Given the description of an element on the screen output the (x, y) to click on. 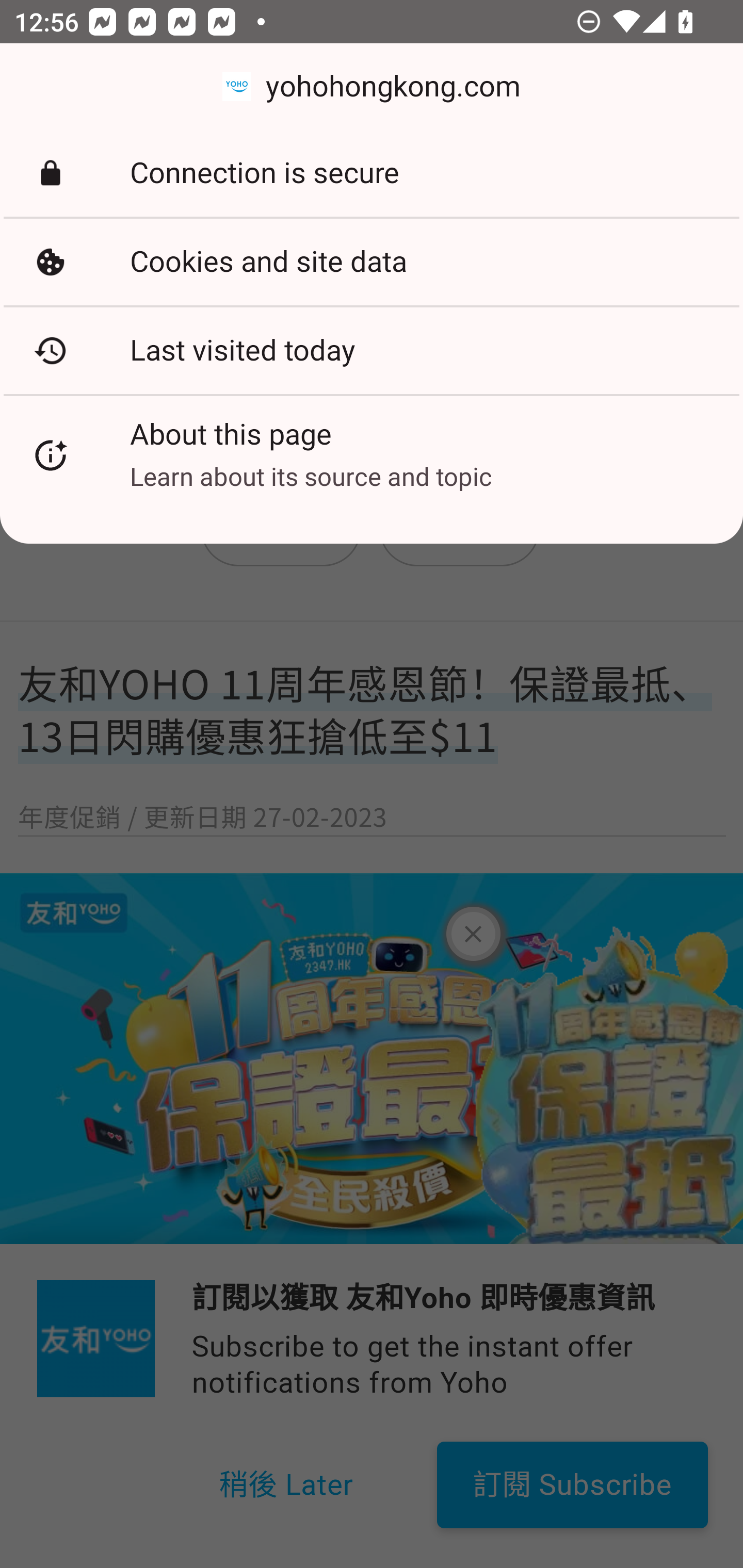
yohohongkong.com (371, 86)
Connection is secure (371, 173)
Cookies and site data (371, 261)
Last visited today (371, 350)
About this page Learn about its source and topic (371, 455)
